Given the description of an element on the screen output the (x, y) to click on. 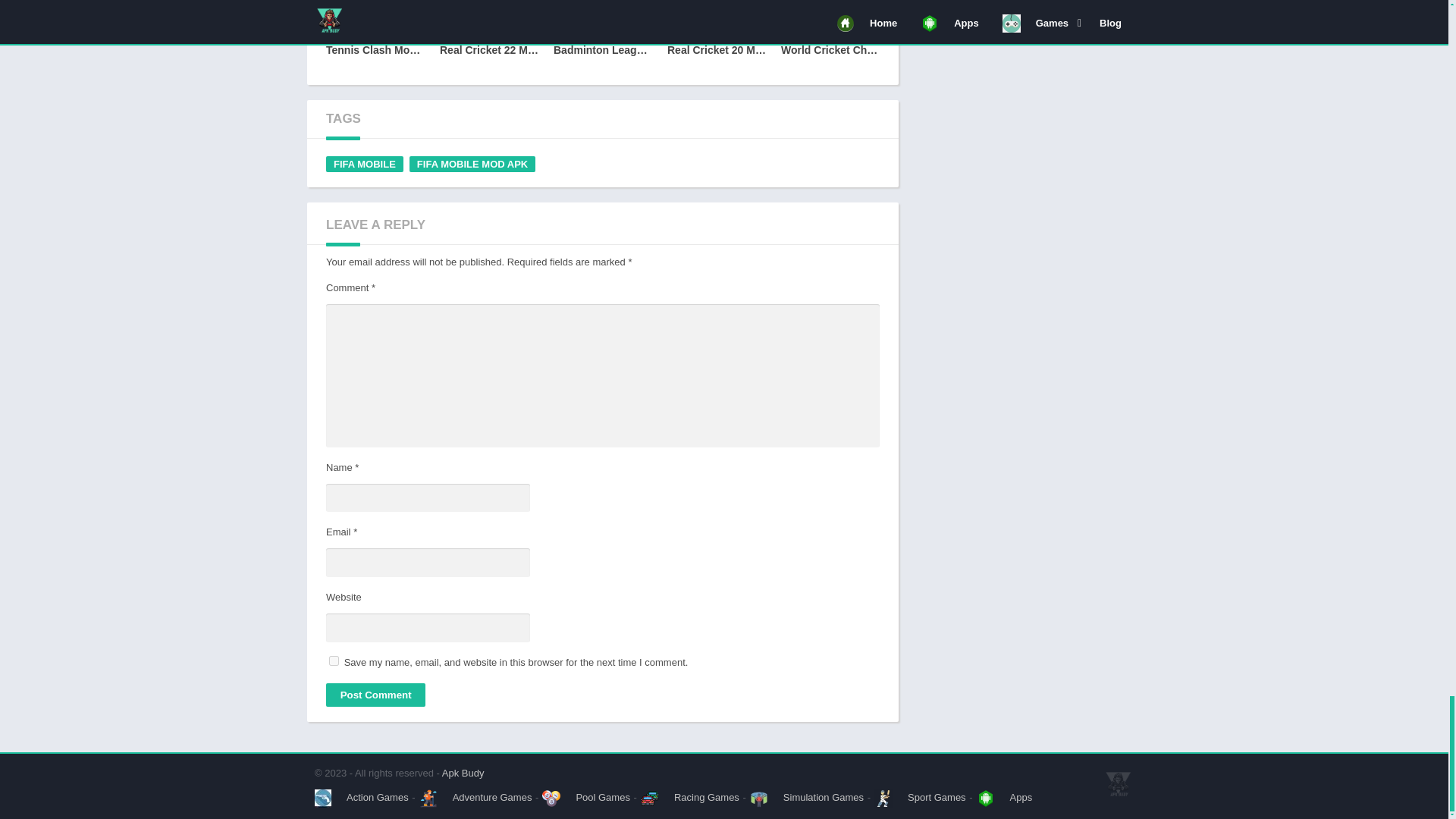
Real Cricket 22 Mod APK (488, 36)
World Cricket Championship 2 Mod APK (829, 36)
Real Cricket 20 Mod APK (715, 36)
Post Comment (375, 694)
Badminton League Mod APK (602, 36)
yes (334, 660)
